Given the description of an element on the screen output the (x, y) to click on. 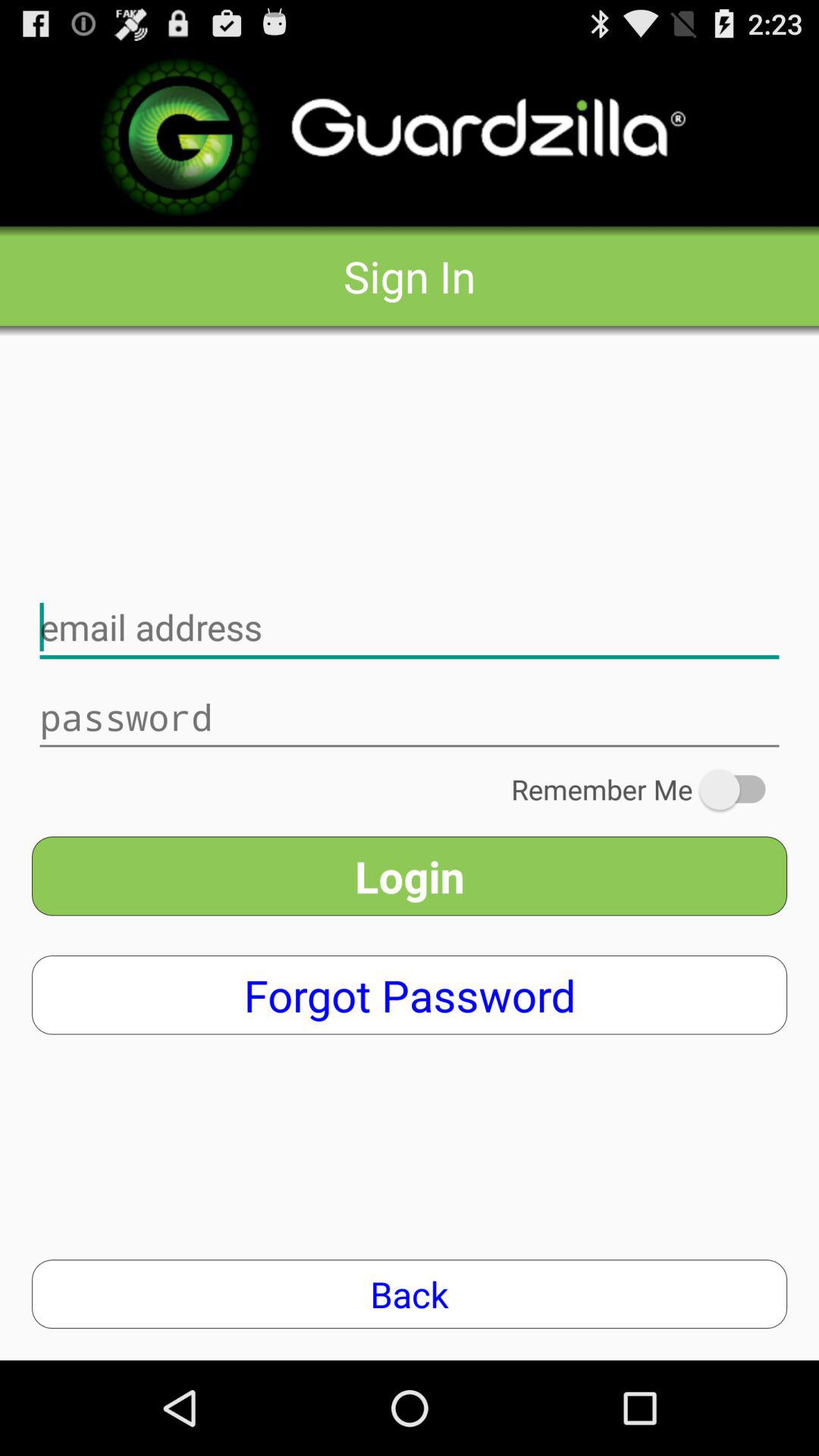
enter password (409, 717)
